Given the description of an element on the screen output the (x, y) to click on. 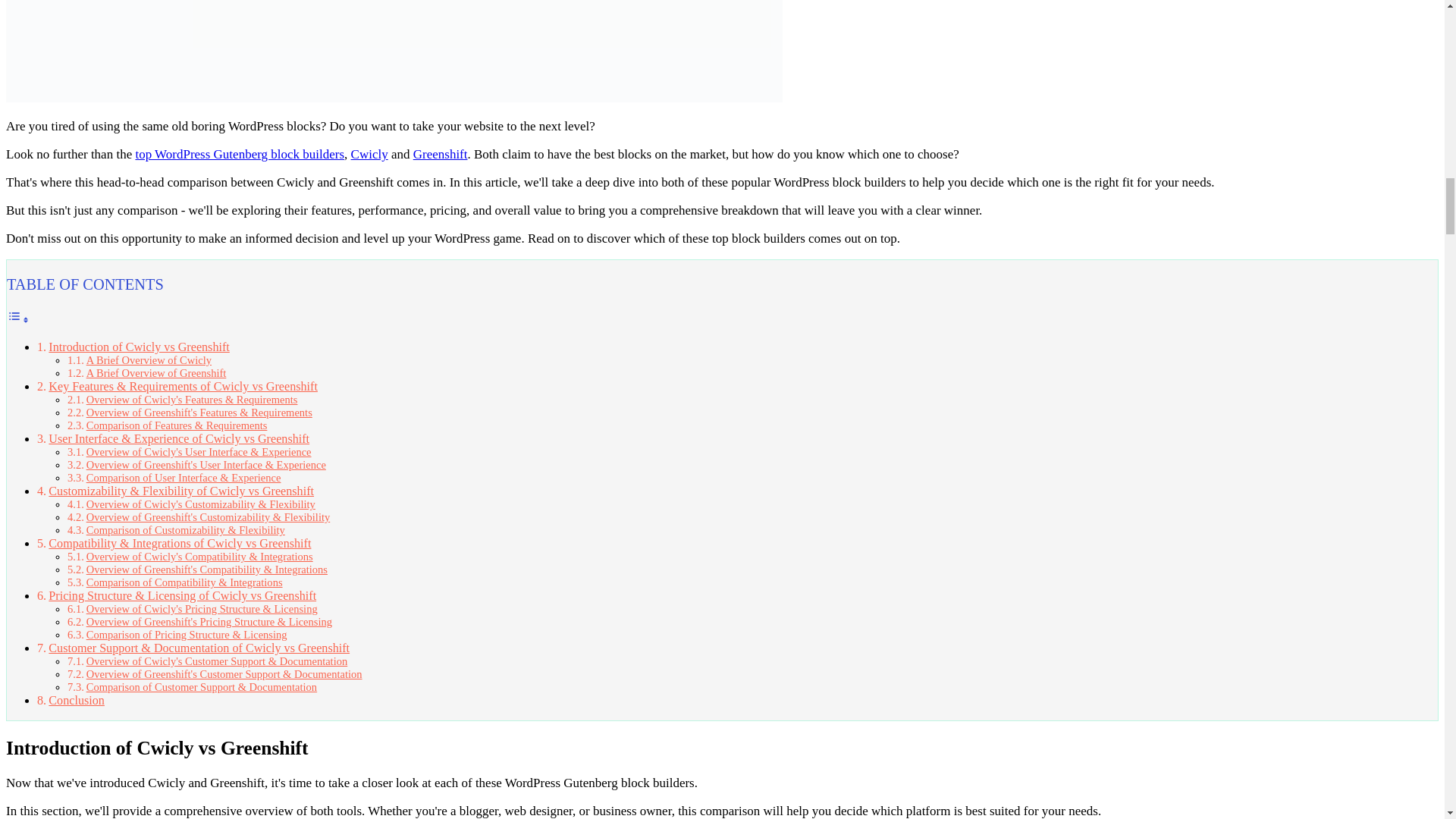
Introduction of Cwicly vs Greenshift (138, 346)
A Brief Overview of Cwicly (148, 359)
A Brief Overview of Greenshift (156, 372)
